Given the description of an element on the screen output the (x, y) to click on. 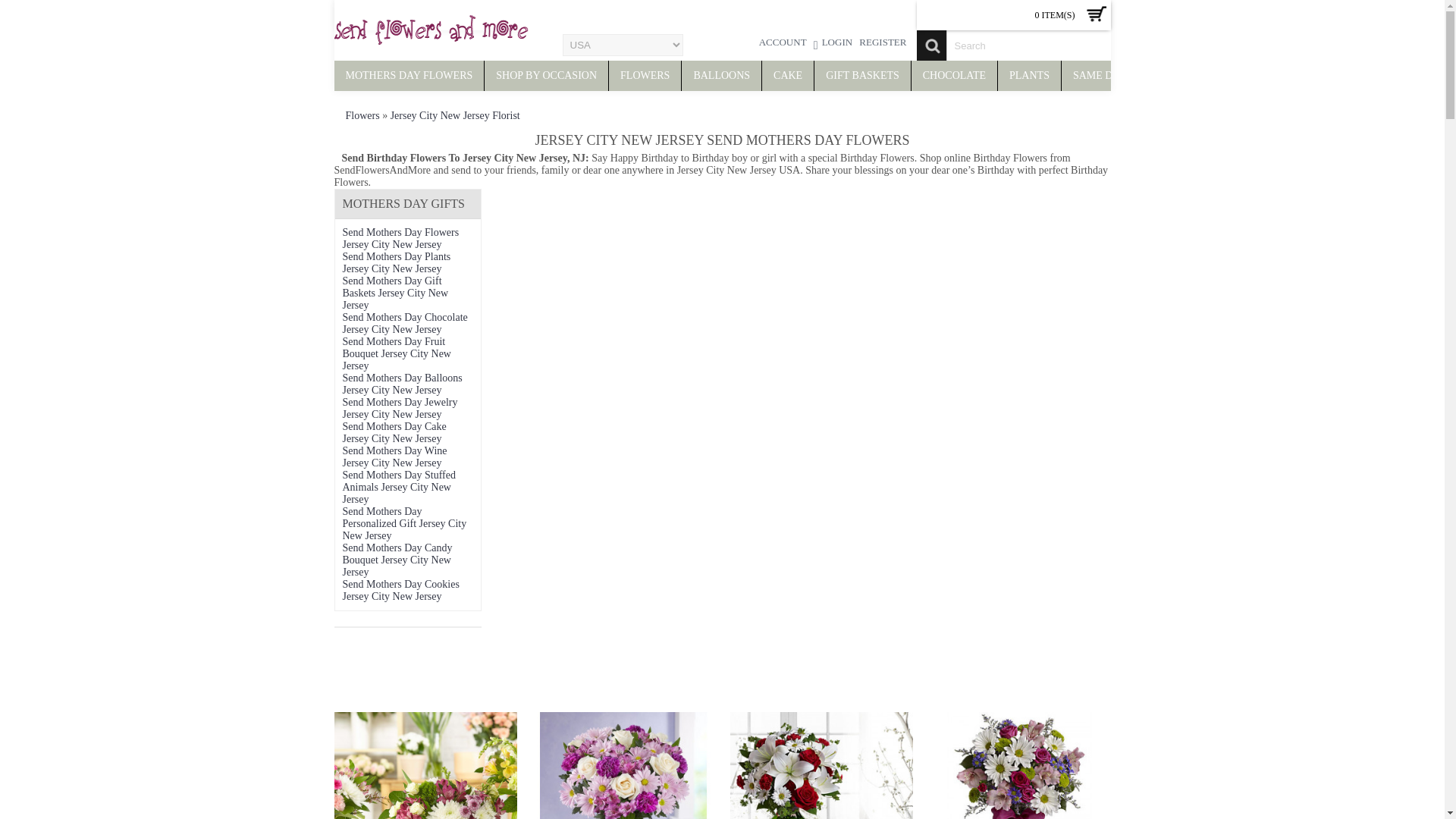
GIFT BASKETS (862, 75)
LOGIN (832, 43)
FLOWERS (644, 75)
SHOP BY OCCASION (546, 75)
BALLOONS (721, 75)
CAKE (787, 75)
ACCOUNT (783, 43)
sendflowersandmore.com (430, 30)
MOTHERS DAY FLOWERS (408, 75)
REGISTER (882, 43)
